Given the description of an element on the screen output the (x, y) to click on. 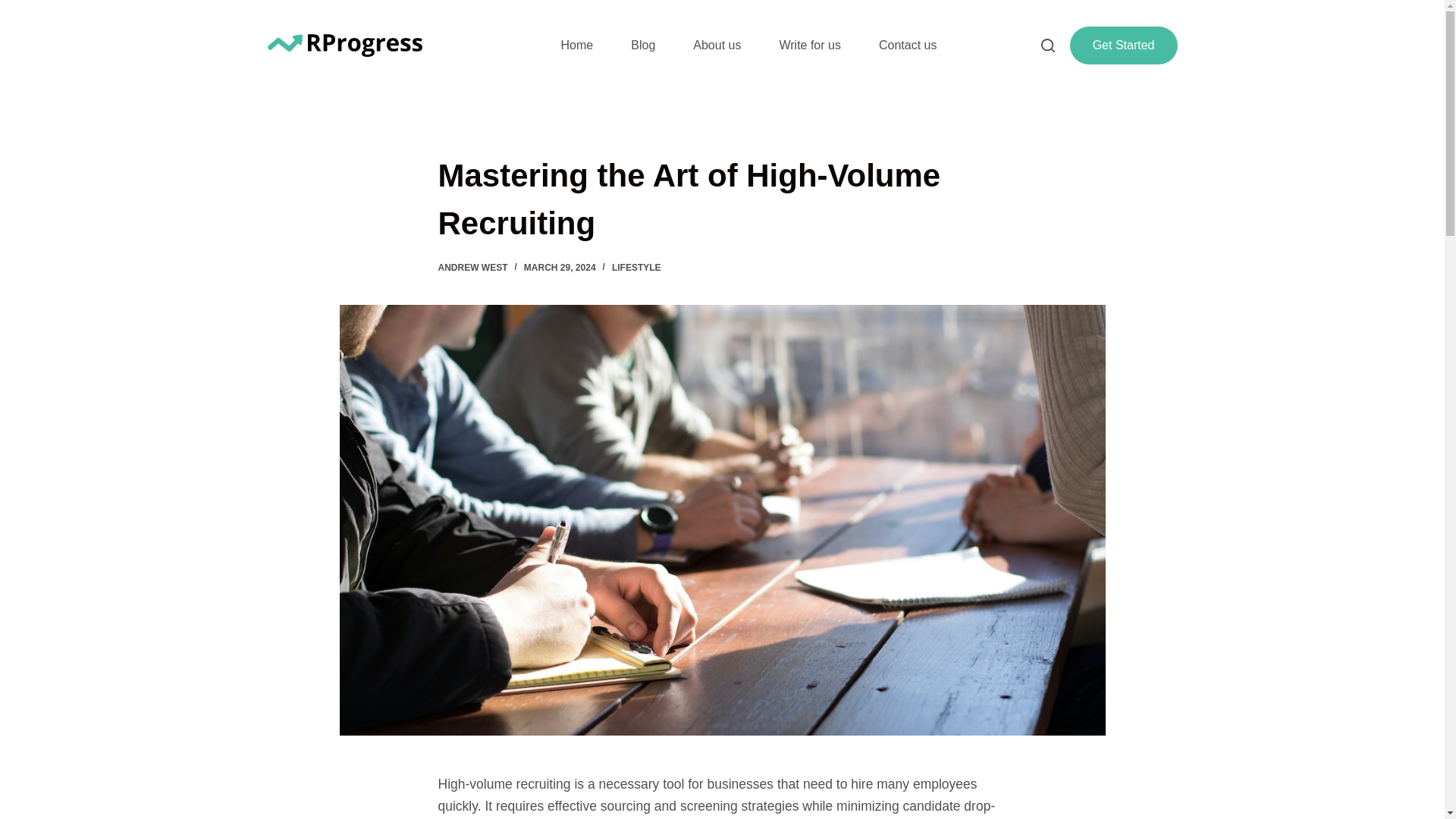
Home (576, 45)
Get Started (1123, 45)
Skip to content (15, 7)
Write for us (810, 45)
About us (717, 45)
Posts by Andrew West (473, 267)
Contact us (907, 45)
Blog (642, 45)
ANDREW WEST (473, 267)
Mastering the Art of High-Volume Recruiting (722, 199)
